Given the description of an element on the screen output the (x, y) to click on. 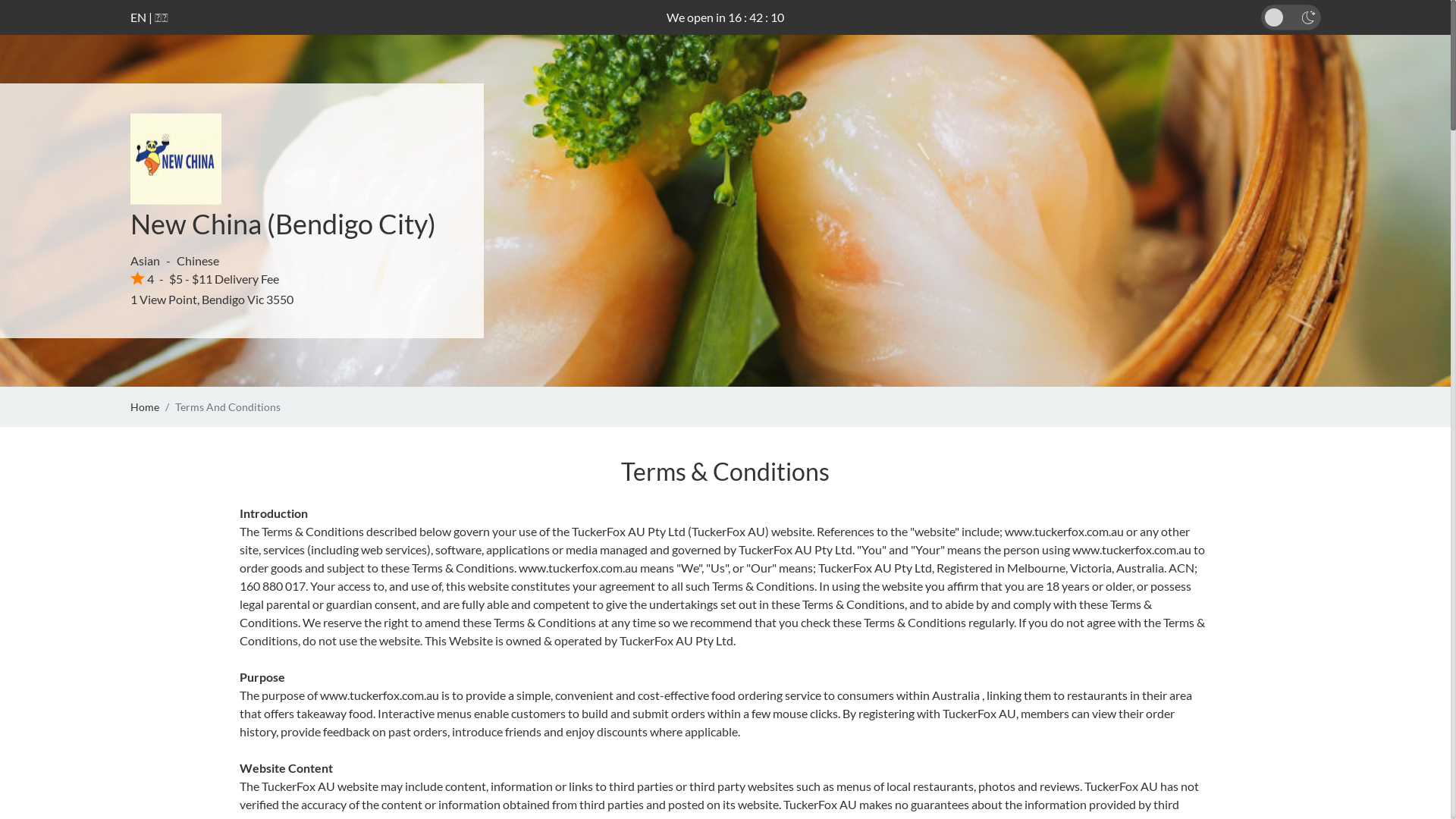
New China (Bendigo City) Element type: text (283, 223)
4 Element type: text (141, 278)
Home Element type: text (144, 406)
EN Element type: text (138, 16)
